Given the description of an element on the screen output the (x, y) to click on. 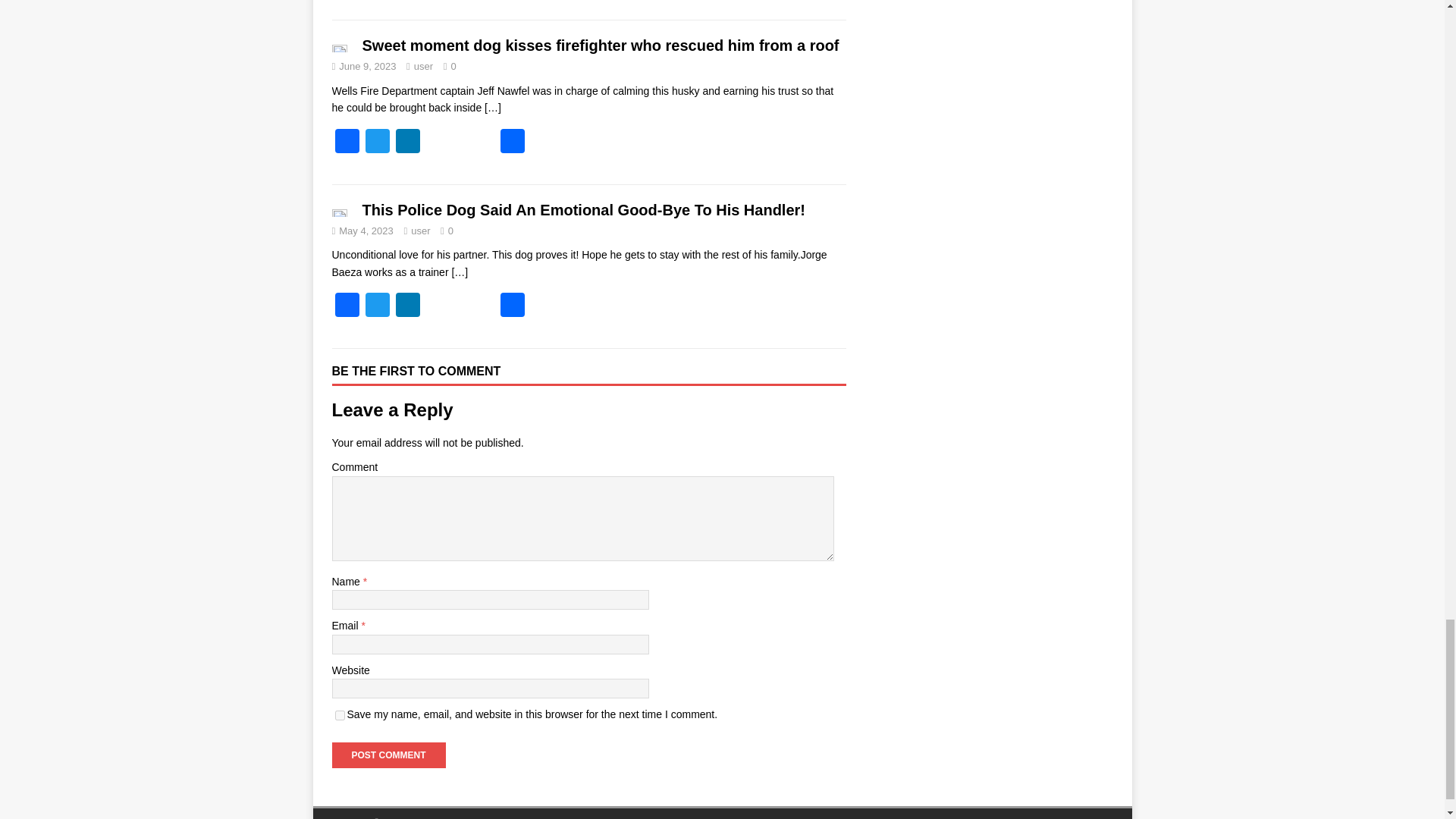
yes (339, 715)
LinkedIn (408, 142)
Twitter (377, 306)
Post Comment (388, 755)
Twitter (377, 142)
Facebook (346, 142)
Facebook (346, 306)
